Given the description of an element on the screen output the (x, y) to click on. 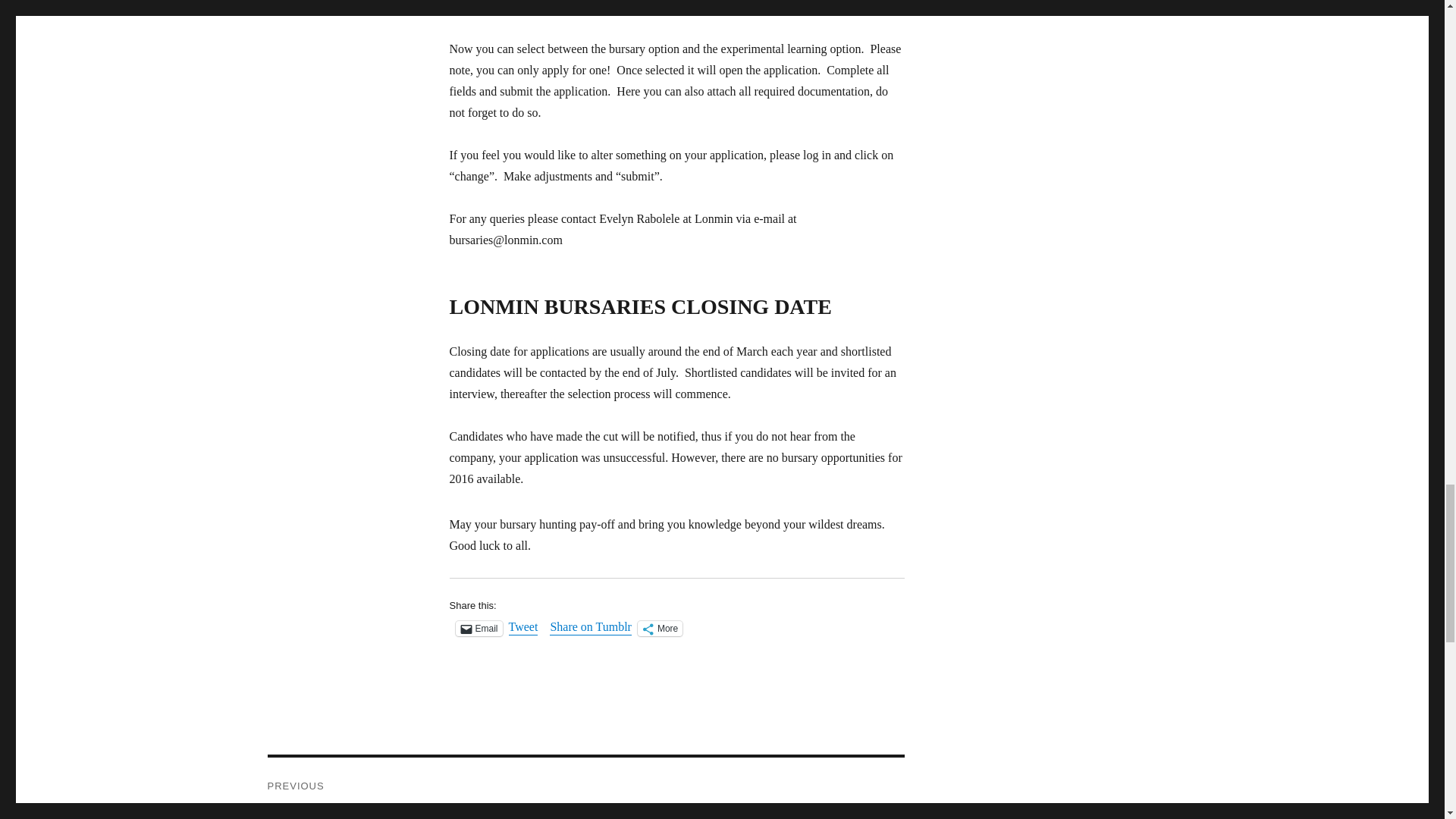
Click to email a link to a friend (478, 628)
Share on Tumblr (590, 627)
More (659, 628)
Share on Tumblr (590, 627)
Tweet (523, 627)
Email (478, 628)
